Given the description of an element on the screen output the (x, y) to click on. 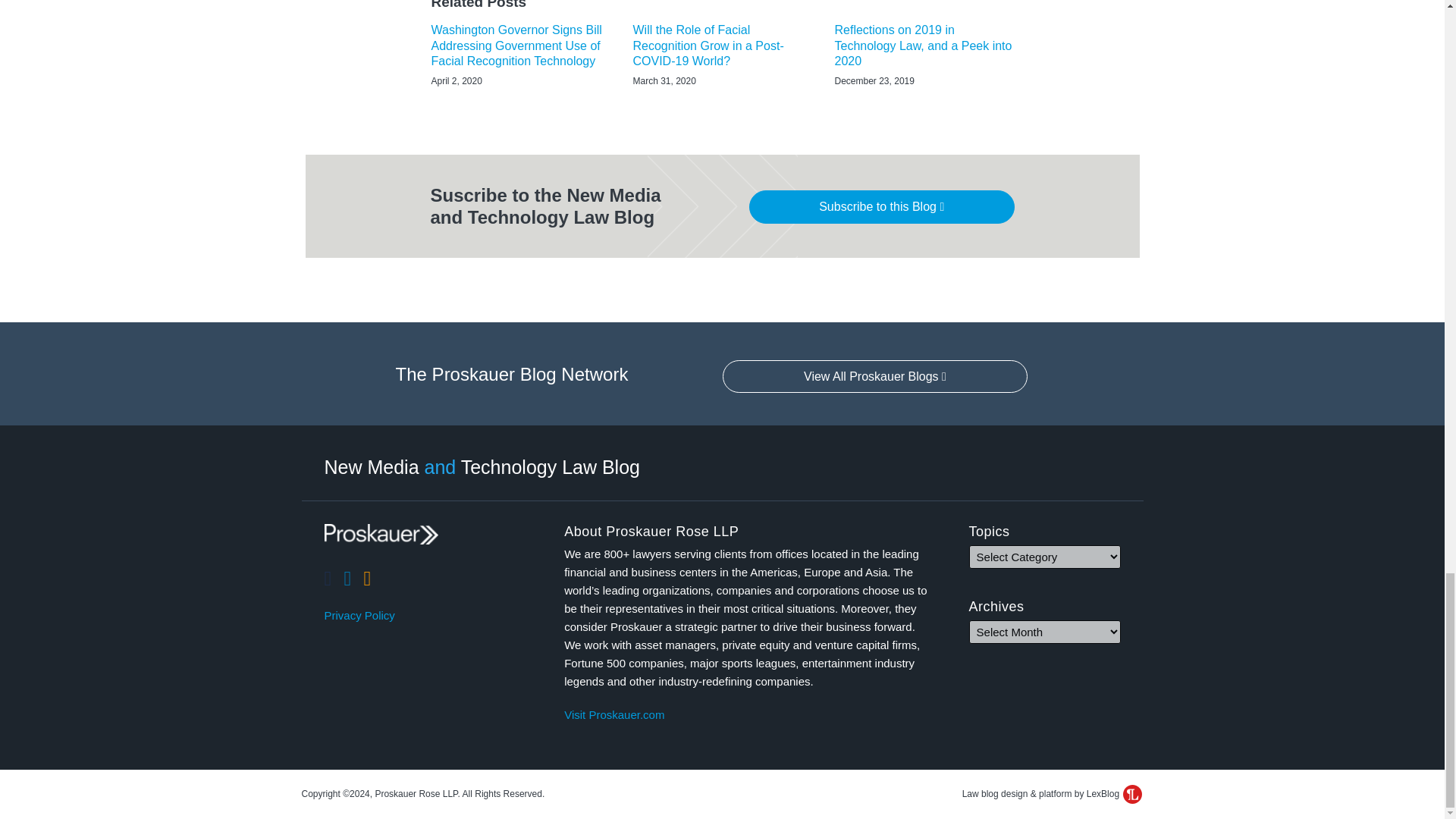
Reflections on 2019 in Technology Law, and a Peek into 2020 (923, 45)
LexBlog Logo (1131, 793)
